Given the description of an element on the screen output the (x, y) to click on. 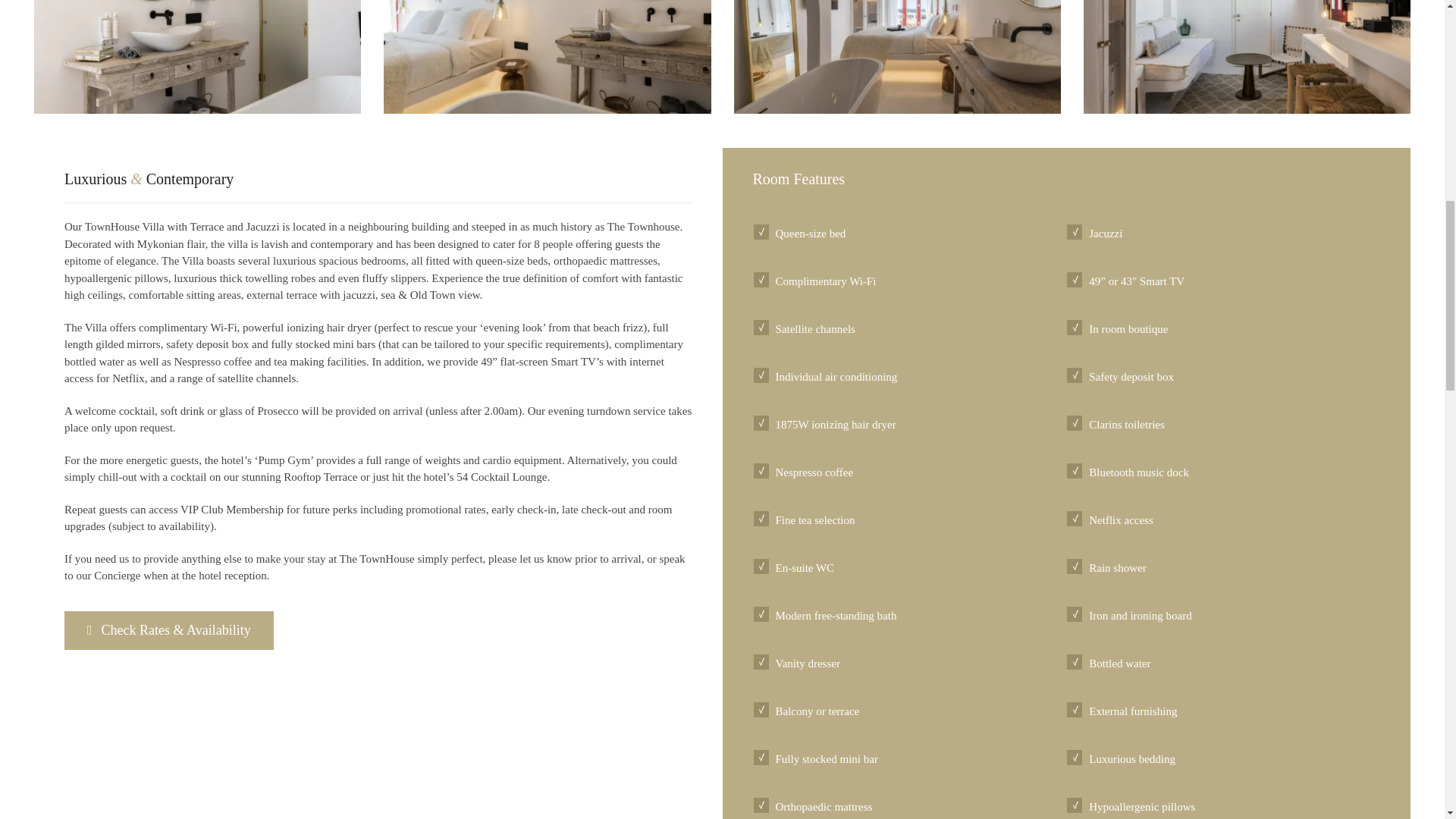
Enlarge Image (197, 56)
Enlarge Image (1246, 56)
Enlarge Image (547, 56)
Enlarge Image (897, 56)
